Given the description of an element on the screen output the (x, y) to click on. 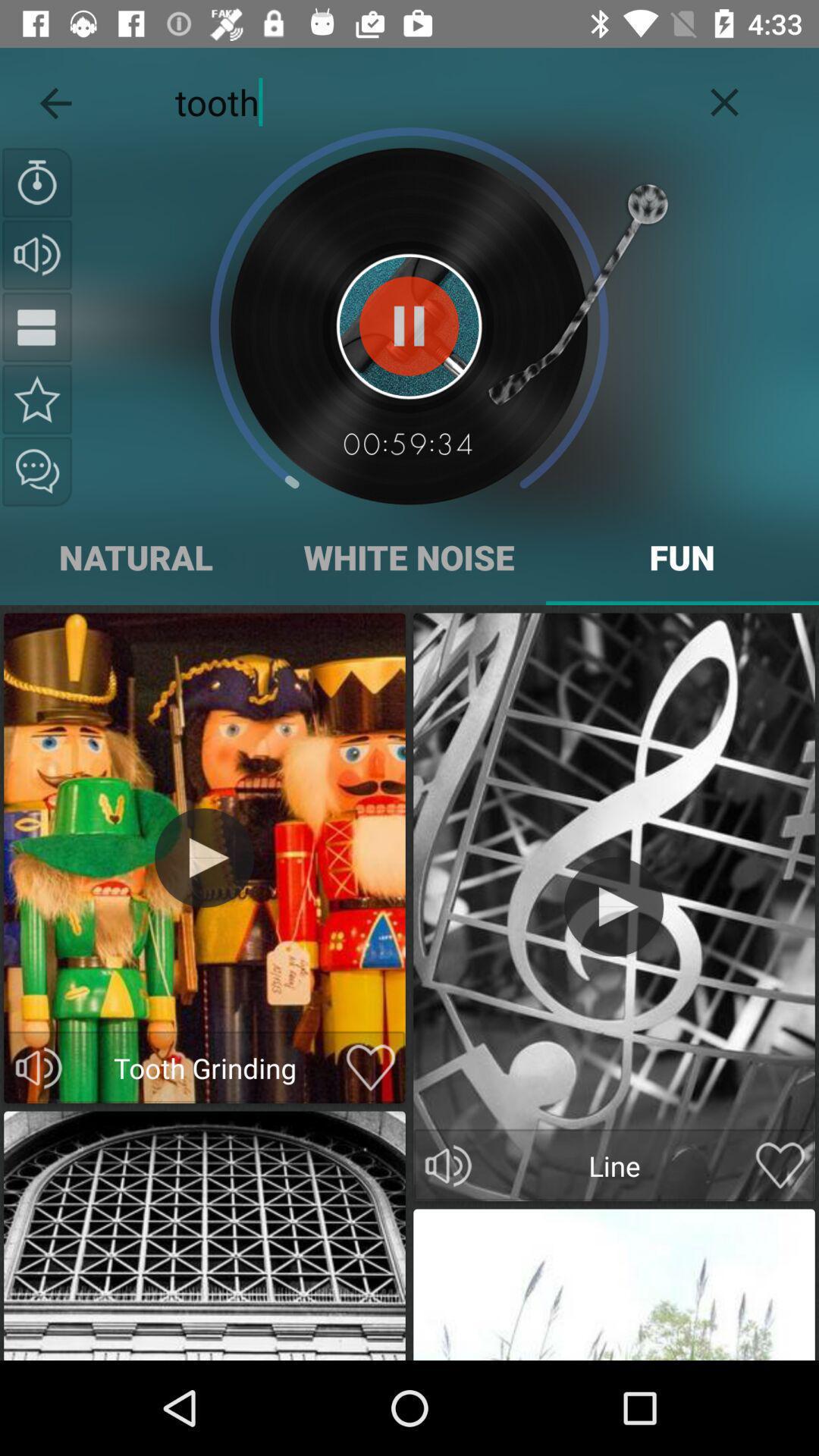
pause sound (408, 325)
